Given the description of an element on the screen output the (x, y) to click on. 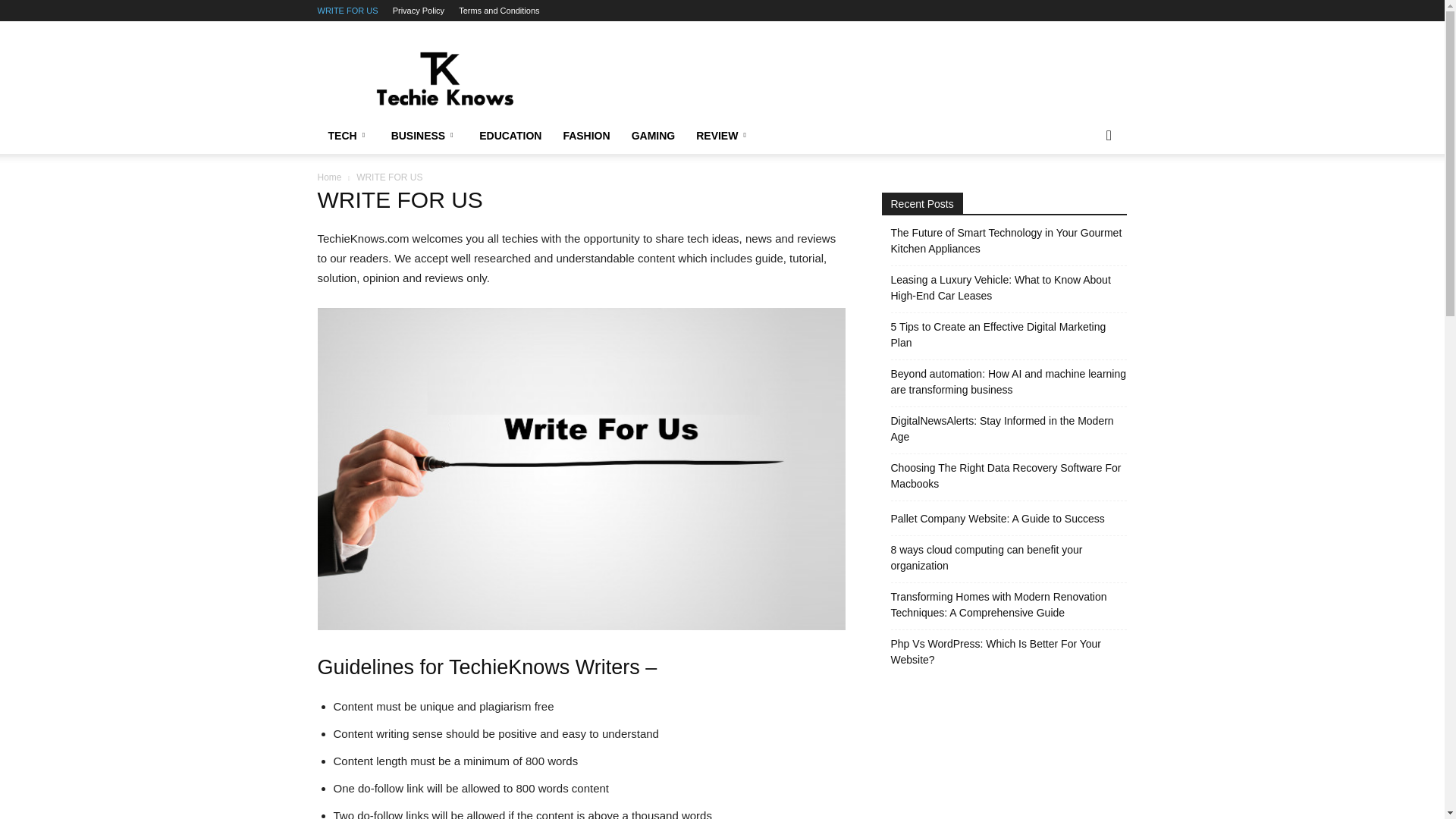
Privacy Policy (418, 10)
Search (1085, 196)
Home (328, 176)
GAMING (653, 135)
BUSINESS (424, 135)
TECH (348, 135)
EDUCATION (509, 135)
WRITE FOR US (347, 10)
Terms and Conditions (498, 10)
FASHION (585, 135)
REVIEW (723, 135)
